Given the description of an element on the screen output the (x, y) to click on. 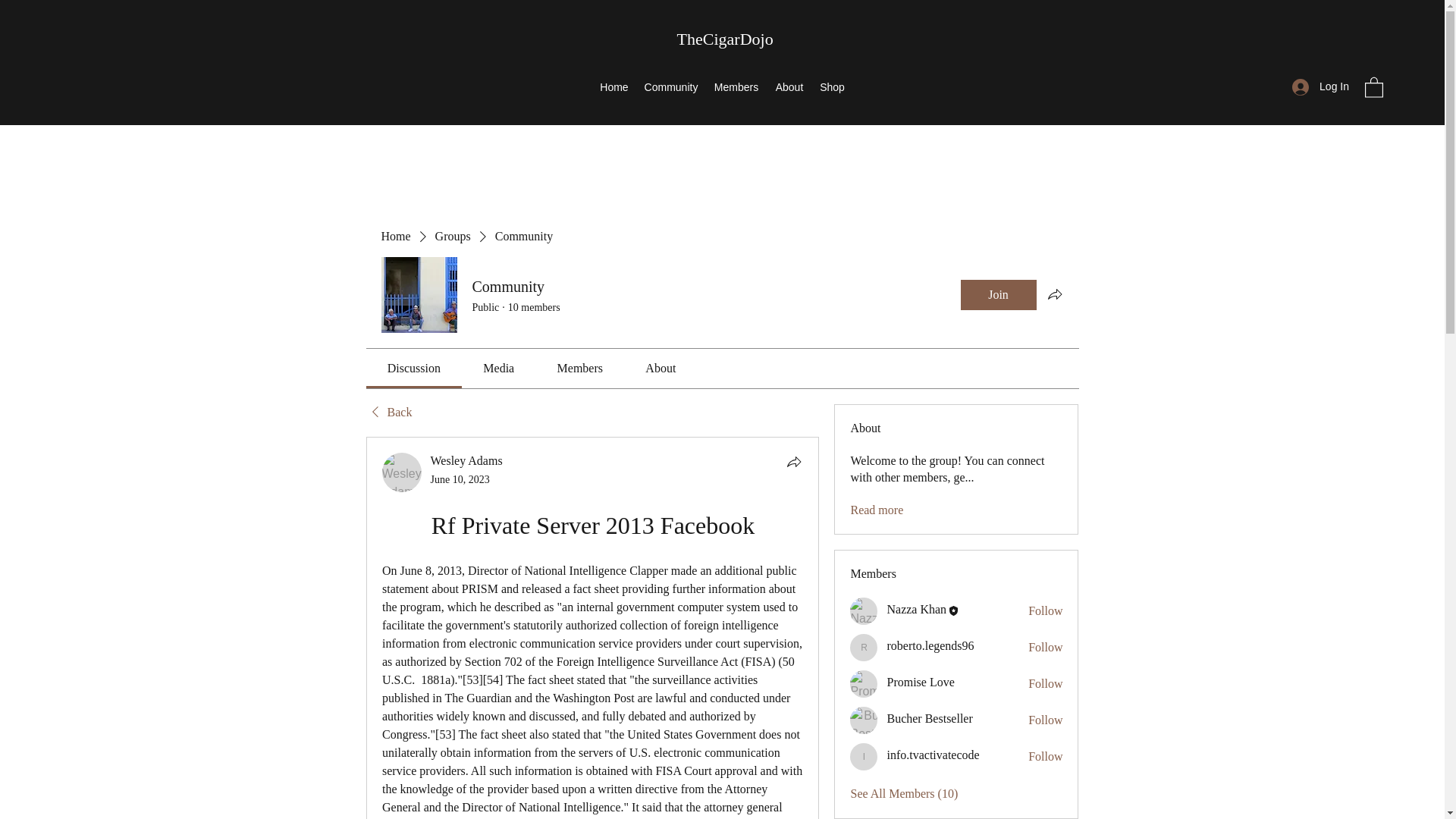
Read more (876, 510)
Community (671, 87)
Log In (1320, 86)
Follow (1044, 719)
Bucher Bestseller (929, 717)
Follow (1044, 647)
TheCigarDojo (725, 38)
Bucher Bestseller (863, 719)
Promise Love (863, 683)
roberto.legends96 (930, 645)
Members (736, 87)
Nazza Khan (863, 610)
Follow (1044, 756)
Follow (1044, 683)
Home (395, 236)
